Given the description of an element on the screen output the (x, y) to click on. 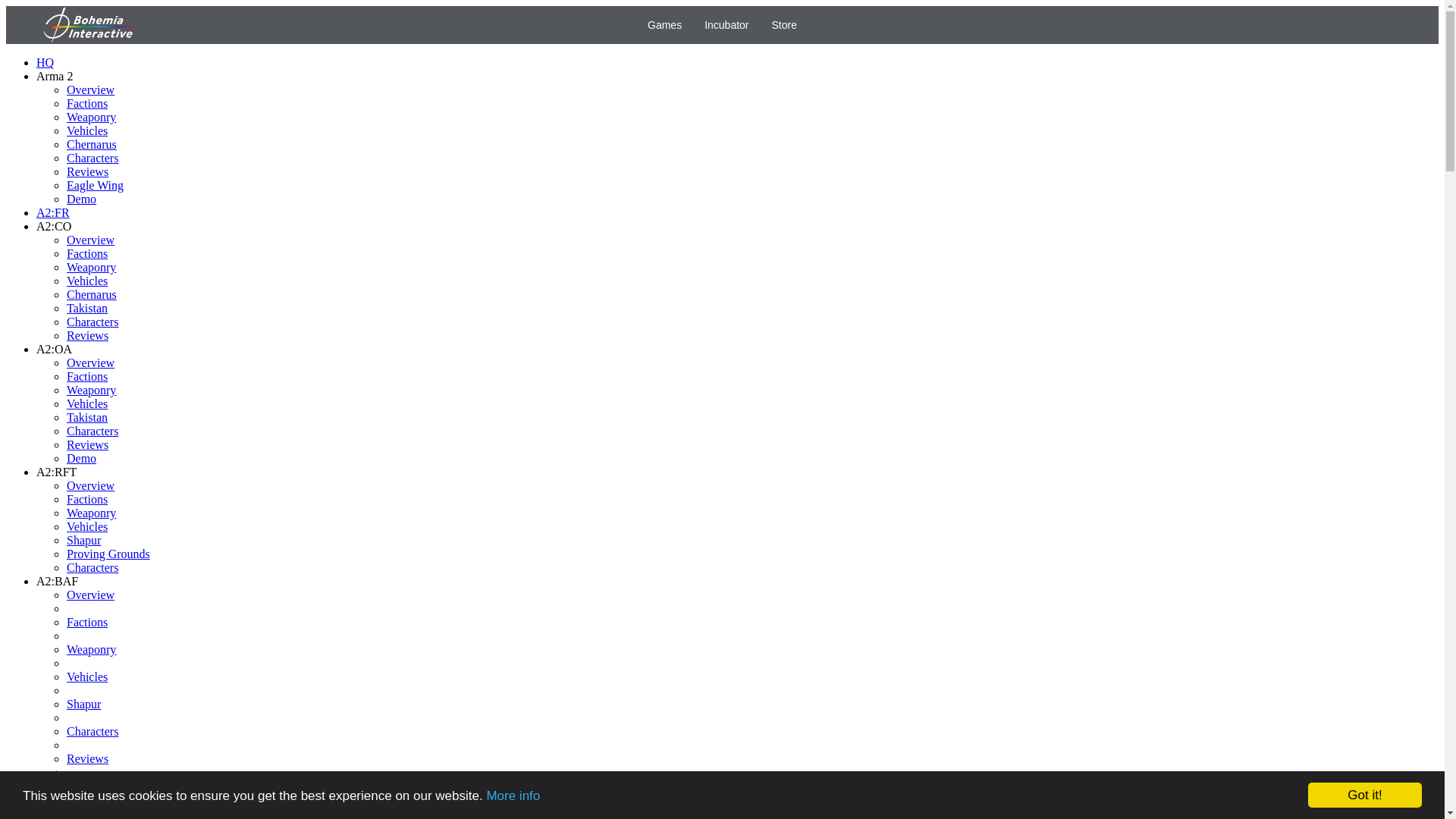
Eagle Wing (94, 185)
Factions (86, 103)
Characters (91, 321)
Reviews (86, 444)
Chernarus (91, 144)
A2:OA (53, 349)
Arma 2 (54, 75)
Overview (90, 362)
Overview (90, 239)
Demo (81, 458)
Vehicles (86, 130)
HQ (44, 62)
Vehicles (86, 403)
Takistan (86, 417)
Weaponry (91, 267)
